Given the description of an element on the screen output the (x, y) to click on. 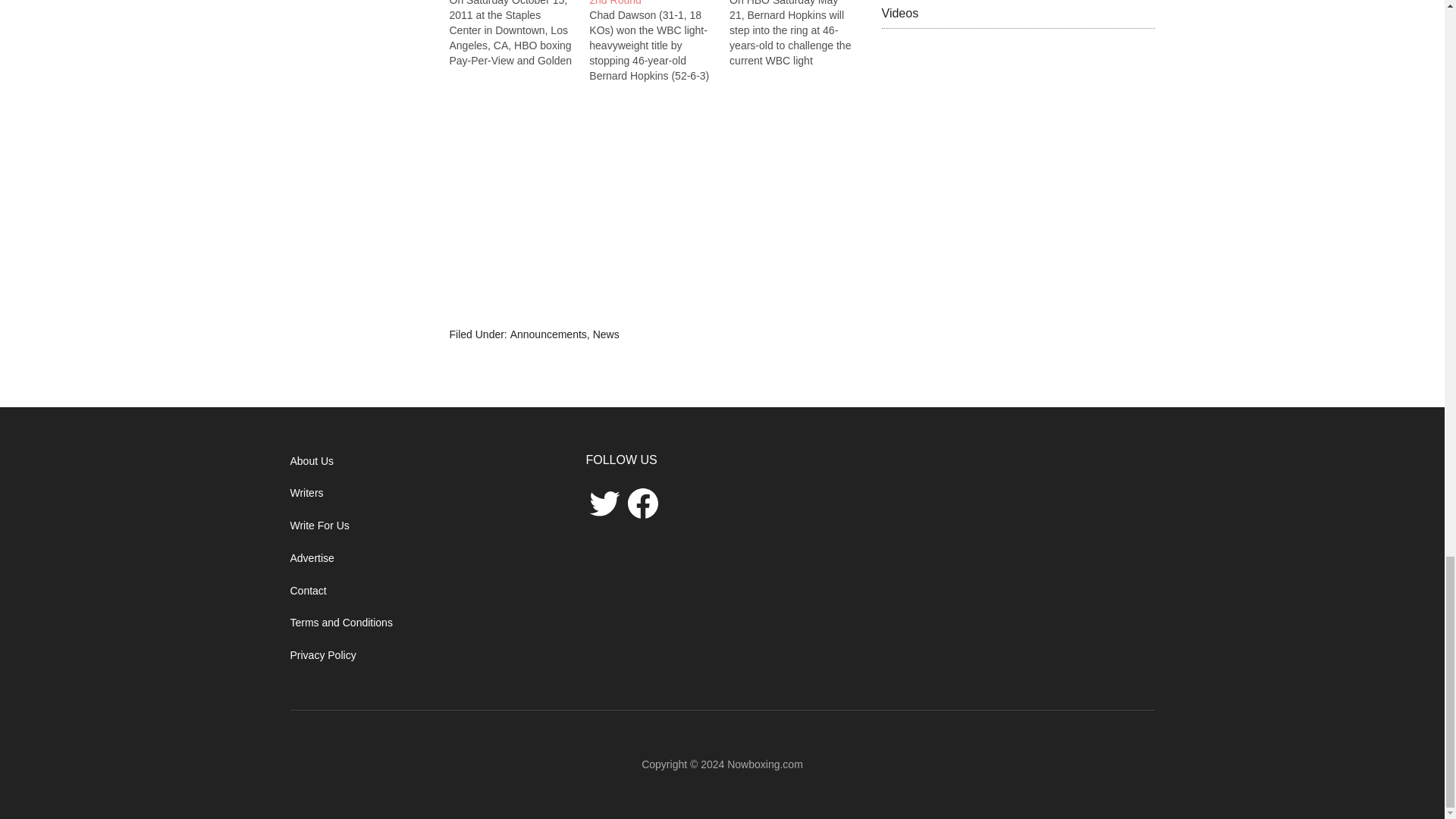
News (606, 334)
Watch Bernard Hopkins vs. Chad Dawson Live on HBO PPV (518, 33)
Announcements (548, 334)
